Given the description of an element on the screen output the (x, y) to click on. 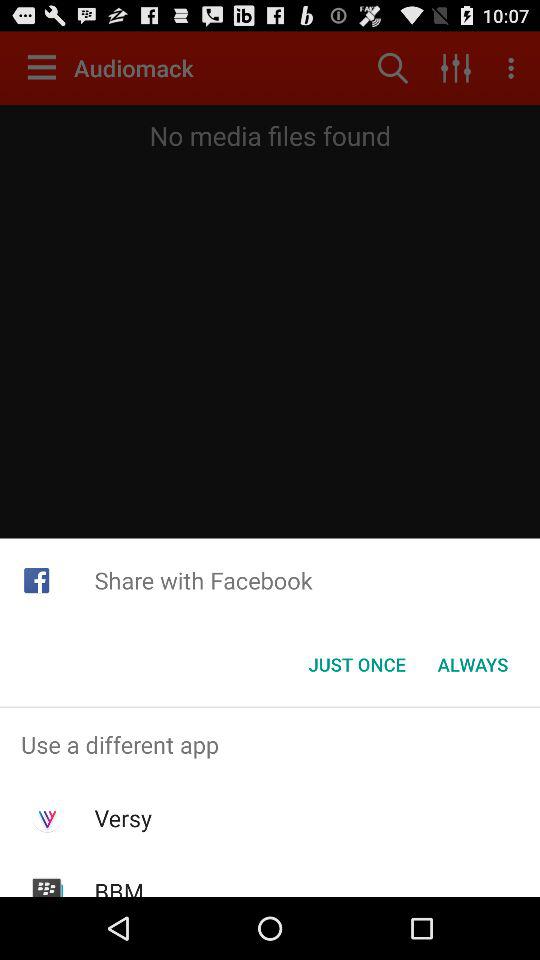
flip until use a different item (270, 744)
